Given the description of an element on the screen output the (x, y) to click on. 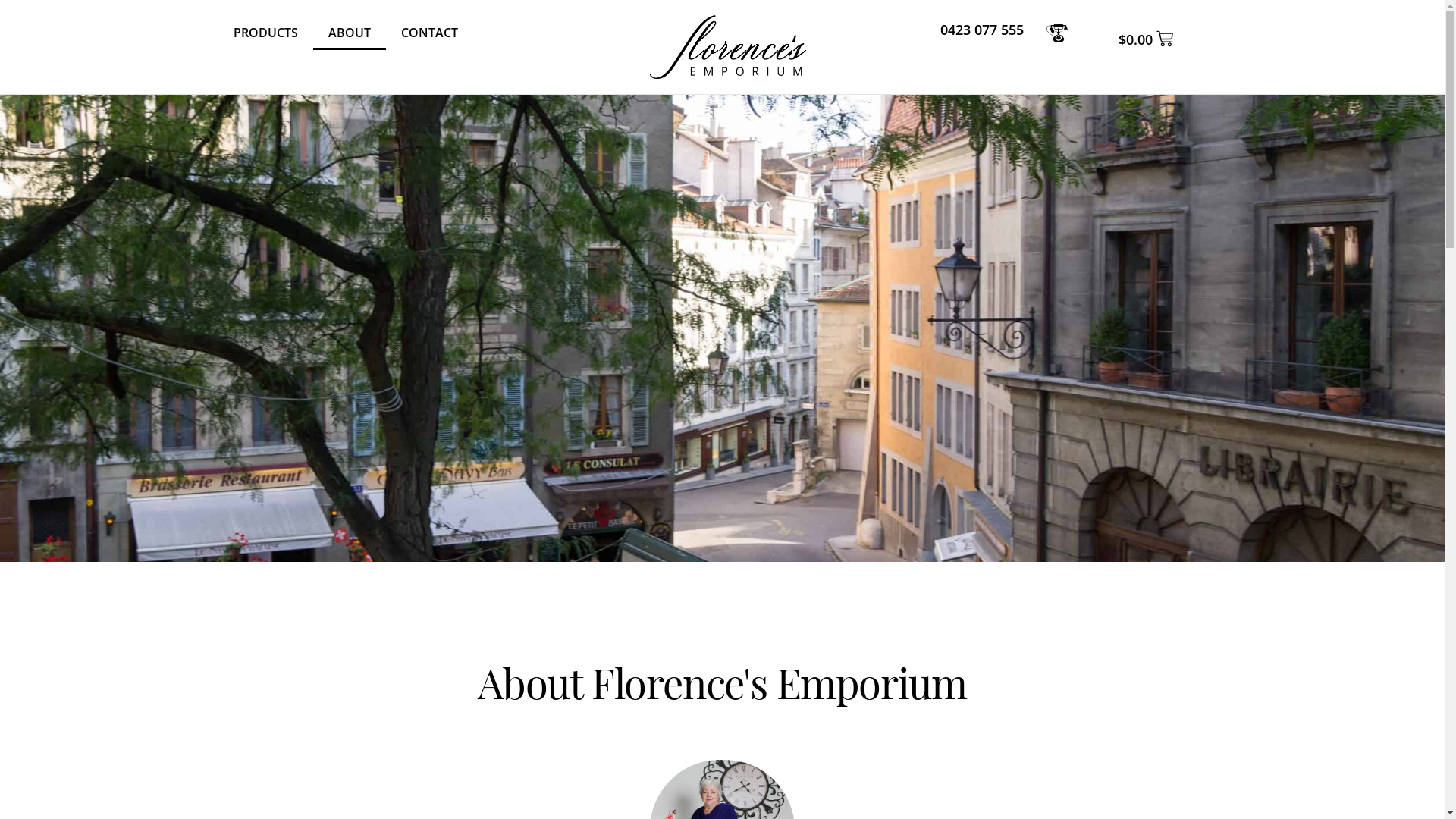
CONTACT Element type: text (428, 32)
$0.00 Element type: text (1145, 39)
PRODUCTS Element type: text (265, 32)
About Florence's Emporium Element type: text (721, 677)
ABOUT Element type: text (348, 32)
